Given the description of an element on the screen output the (x, y) to click on. 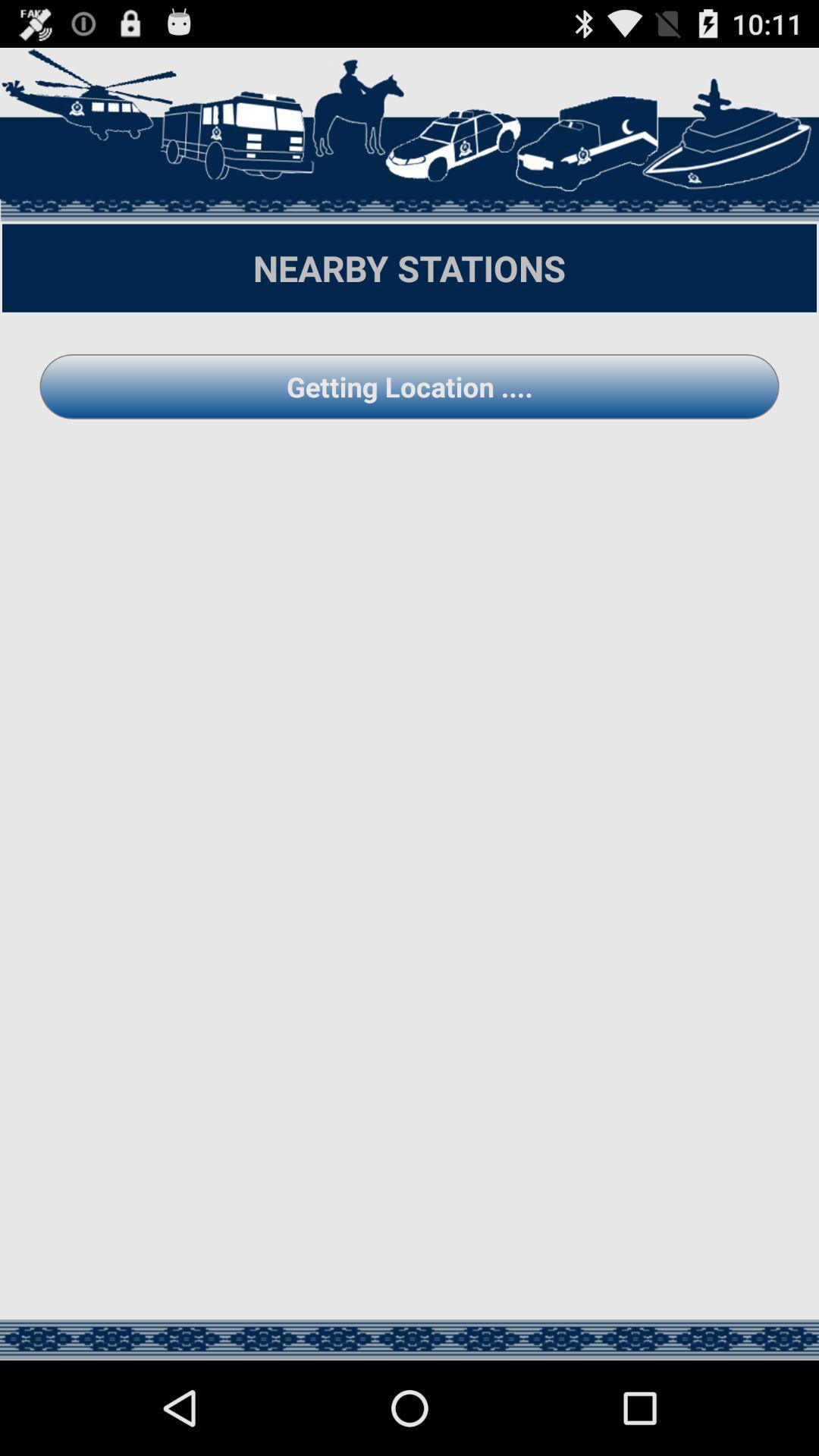
tap the getting location .... (409, 386)
